Given the description of an element on the screen output the (x, y) to click on. 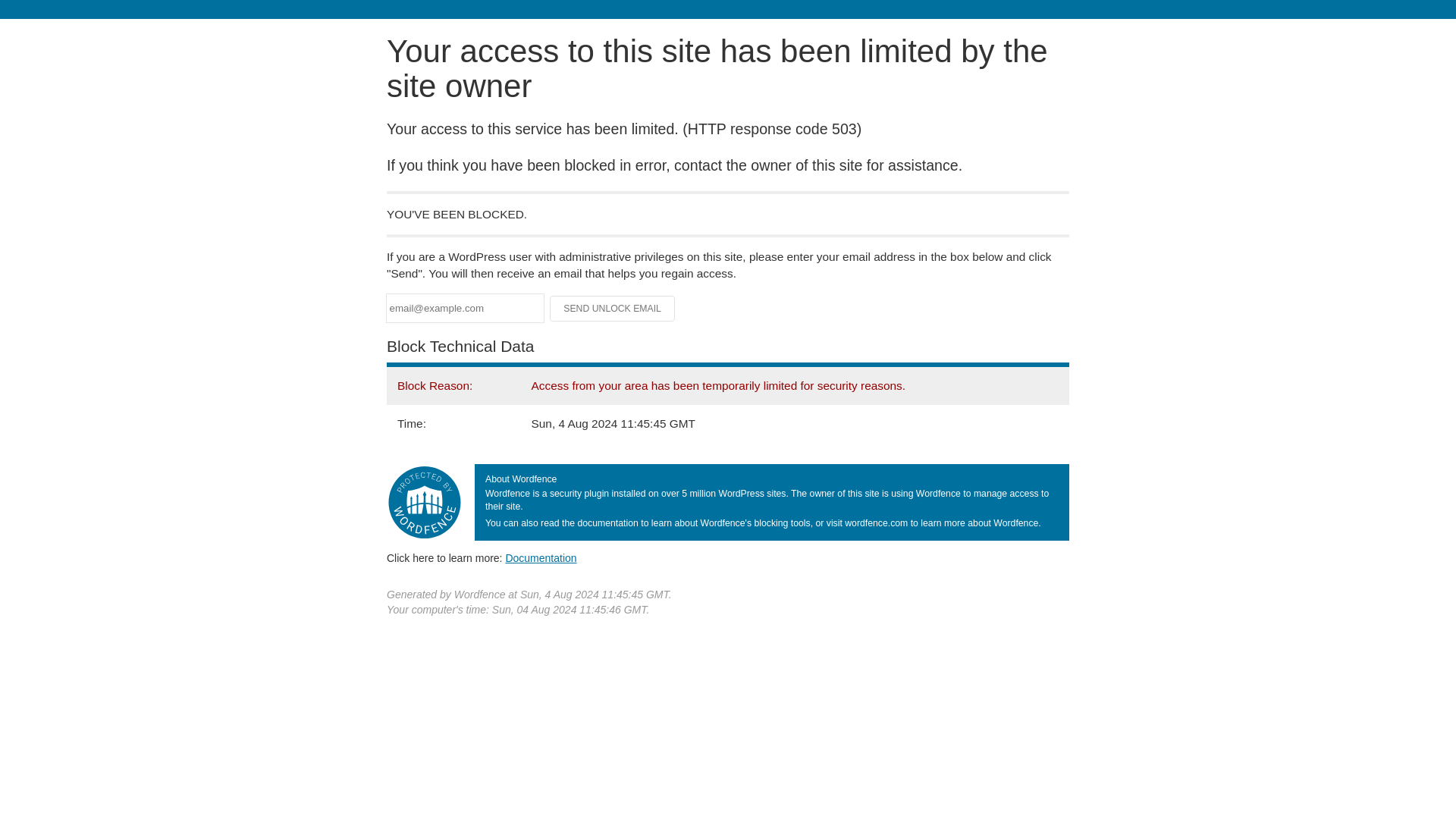
Send Unlock Email (612, 308)
Send Unlock Email (612, 308)
Documentation (540, 558)
